Given the description of an element on the screen output the (x, y) to click on. 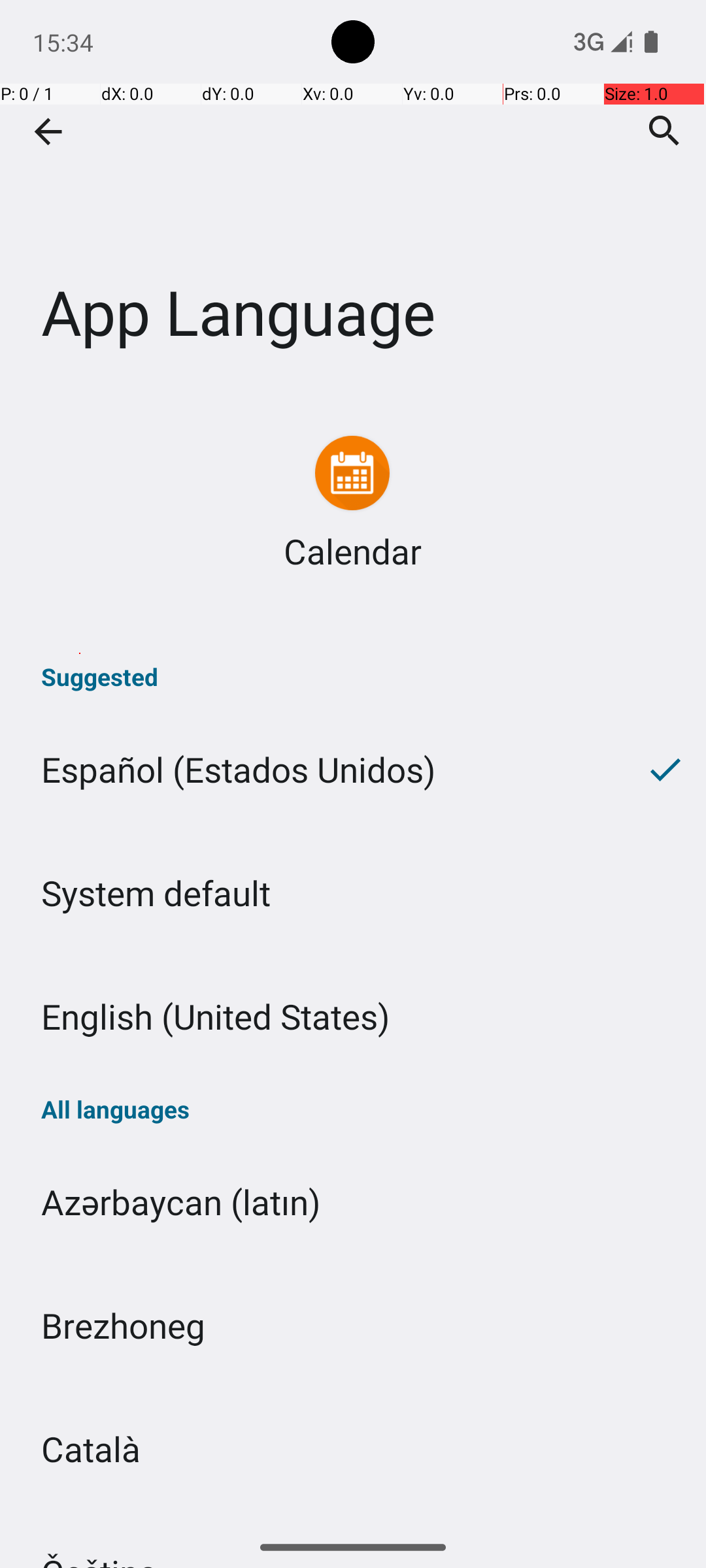
App Language Element type: android.widget.FrameLayout (353, 195)
Suggested Element type: android.widget.TextView (353, 676)
System default Element type: android.widget.TextView (353, 892)
English (United States) Element type: android.widget.TextView (353, 1016)
All languages Element type: android.widget.TextView (353, 1109)
Azərbaycan (latın) Element type: android.widget.TextView (353, 1201)
Brezhoneg Element type: android.widget.TextView (353, 1325)
Català Element type: android.widget.TextView (353, 1448)
Čeština Element type: android.widget.TextView (353, 1518)
Español (Estados Unidos) Element type: android.widget.TextView (312, 769)
